Given the description of an element on the screen output the (x, y) to click on. 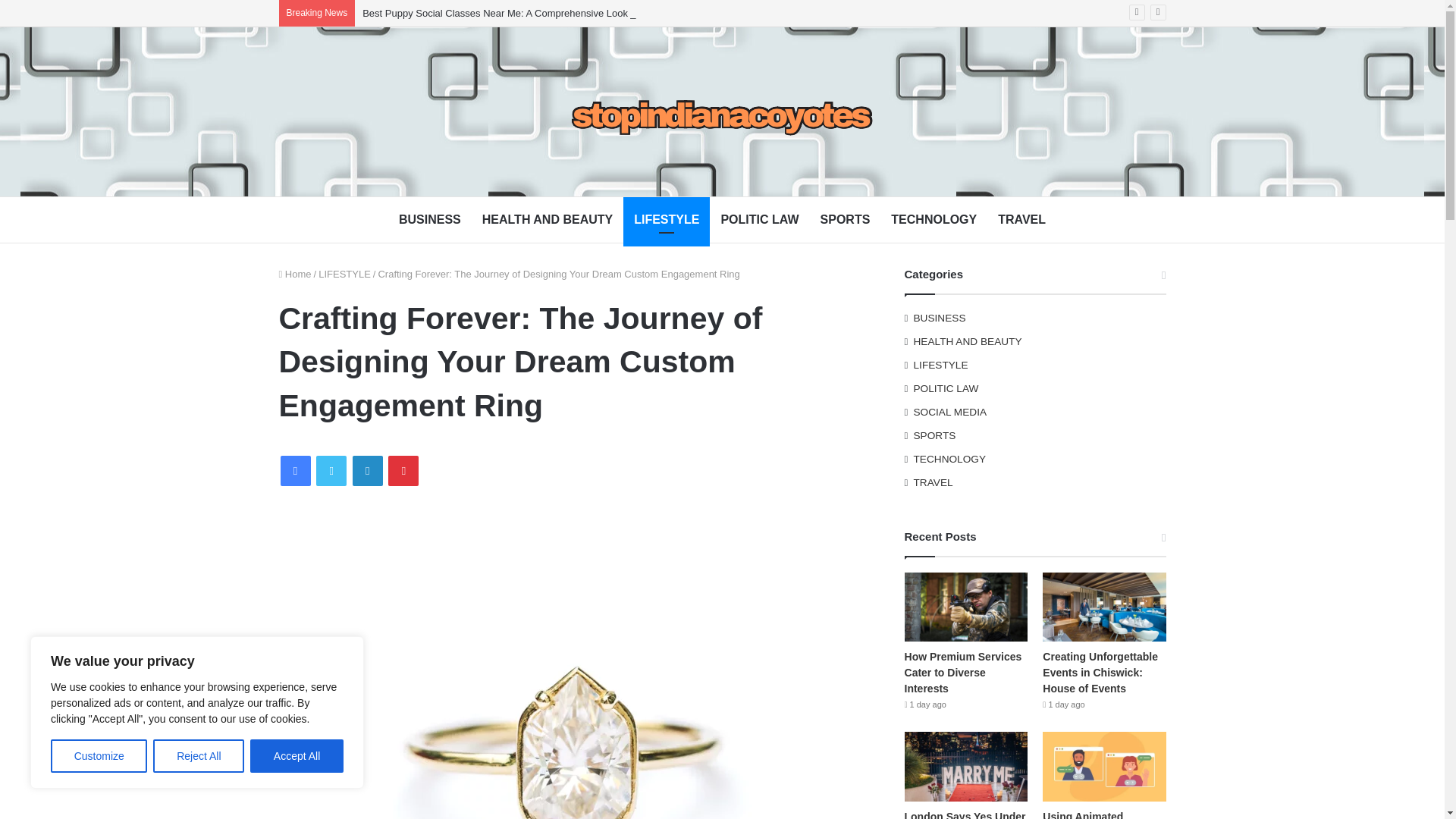
Facebook (296, 470)
LinkedIn (367, 470)
Pinterest (403, 470)
TECHNOLOGY (933, 219)
POLITIC LAW (759, 219)
LIFESTYLE (666, 219)
LinkedIn (367, 470)
HEALTH AND BEAUTY (547, 219)
TRAVEL (1022, 219)
Pinterest (403, 470)
Home (295, 274)
Accept All (296, 756)
Facebook (296, 470)
LIFESTYLE (344, 274)
Twitter (330, 470)
